Given the description of an element on the screen output the (x, y) to click on. 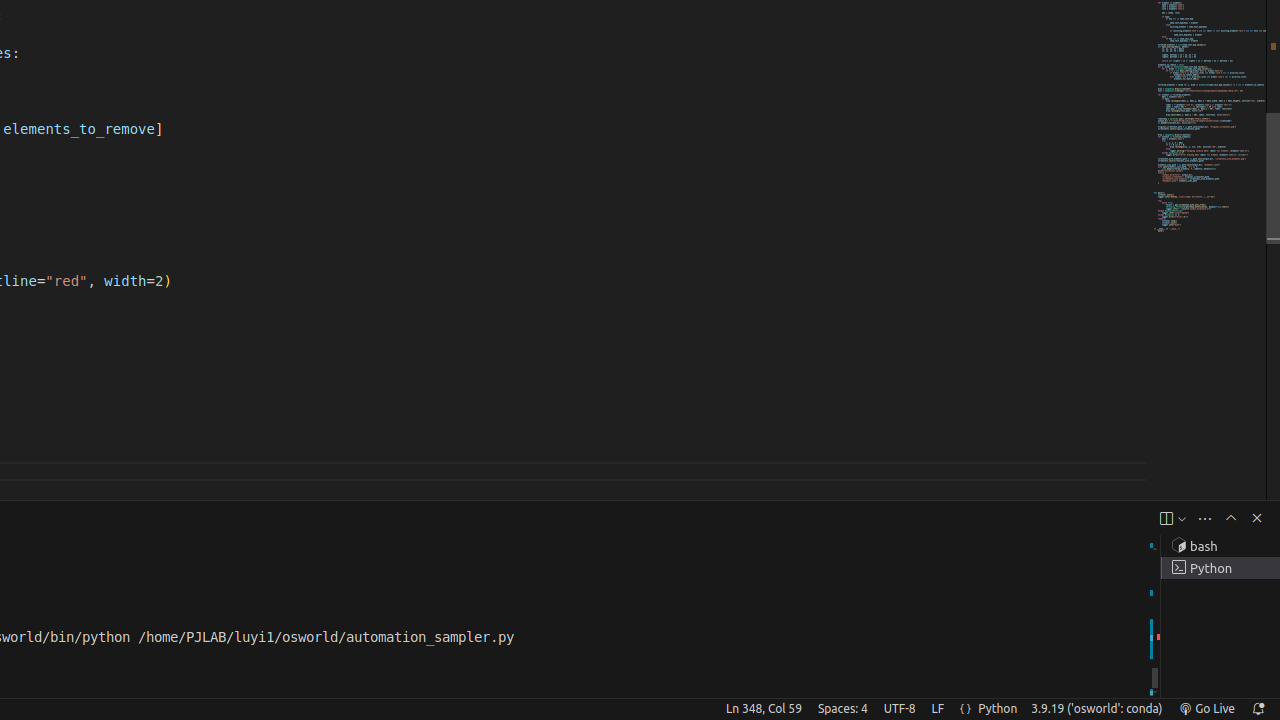
LF Element type: push-button (938, 709)
New Terminal (Ctrl+Shift+`) [Alt] Split Terminal (Ctrl+Shift+5) Element type: push-button (1166, 518)
Editor Language Status: Auto Import Completions: false, next: Type Checking: off Element type: push-button (965, 709)
Ln 348, Col 59 Element type: push-button (764, 709)
broadcast Go Live, Click to run live server Element type: push-button (1206, 709)
